Given the description of an element on the screen output the (x, y) to click on. 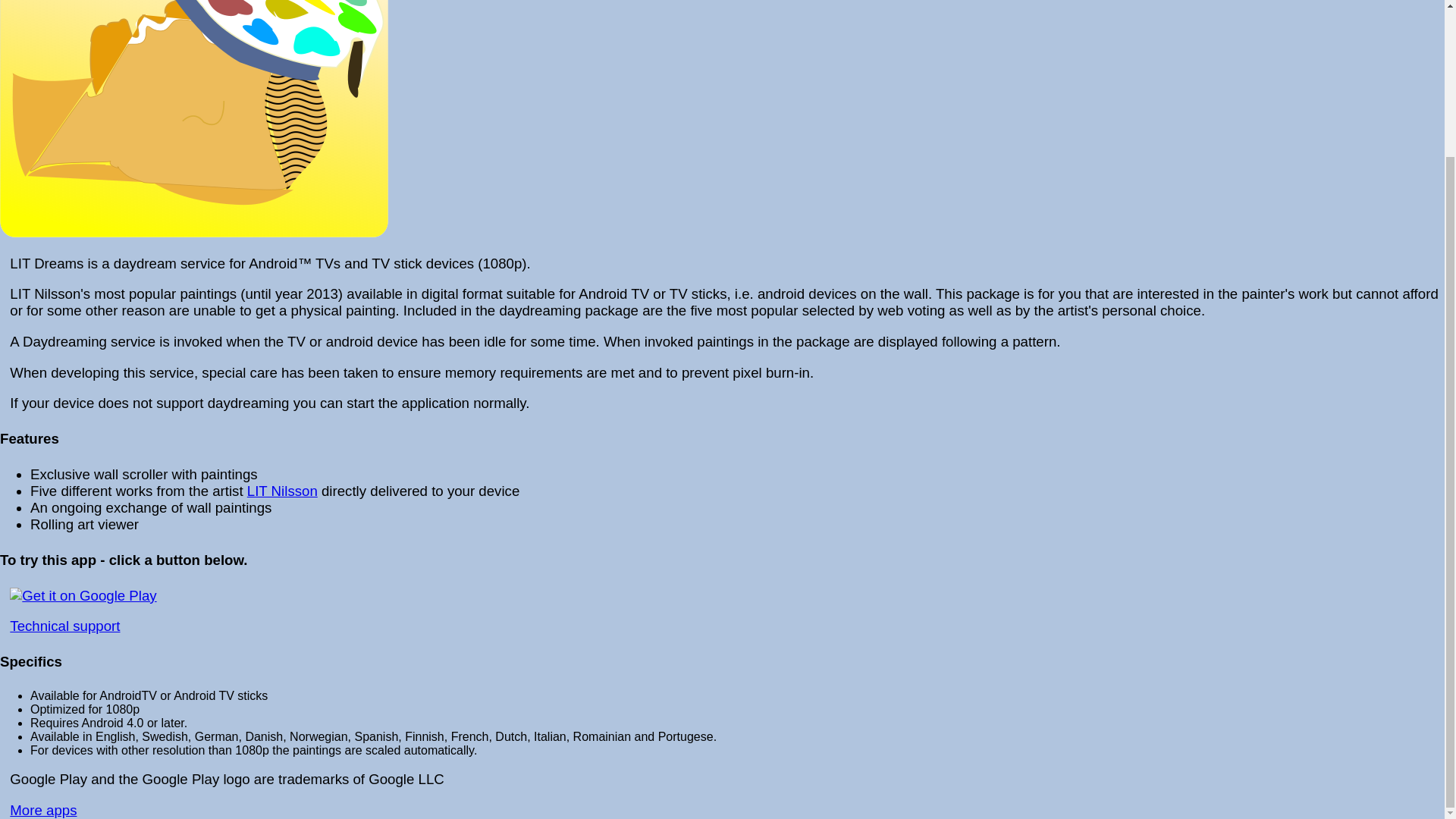
More apps (43, 810)
LIT Nilsson (282, 490)
Technical support (64, 625)
